Given the description of an element on the screen output the (x, y) to click on. 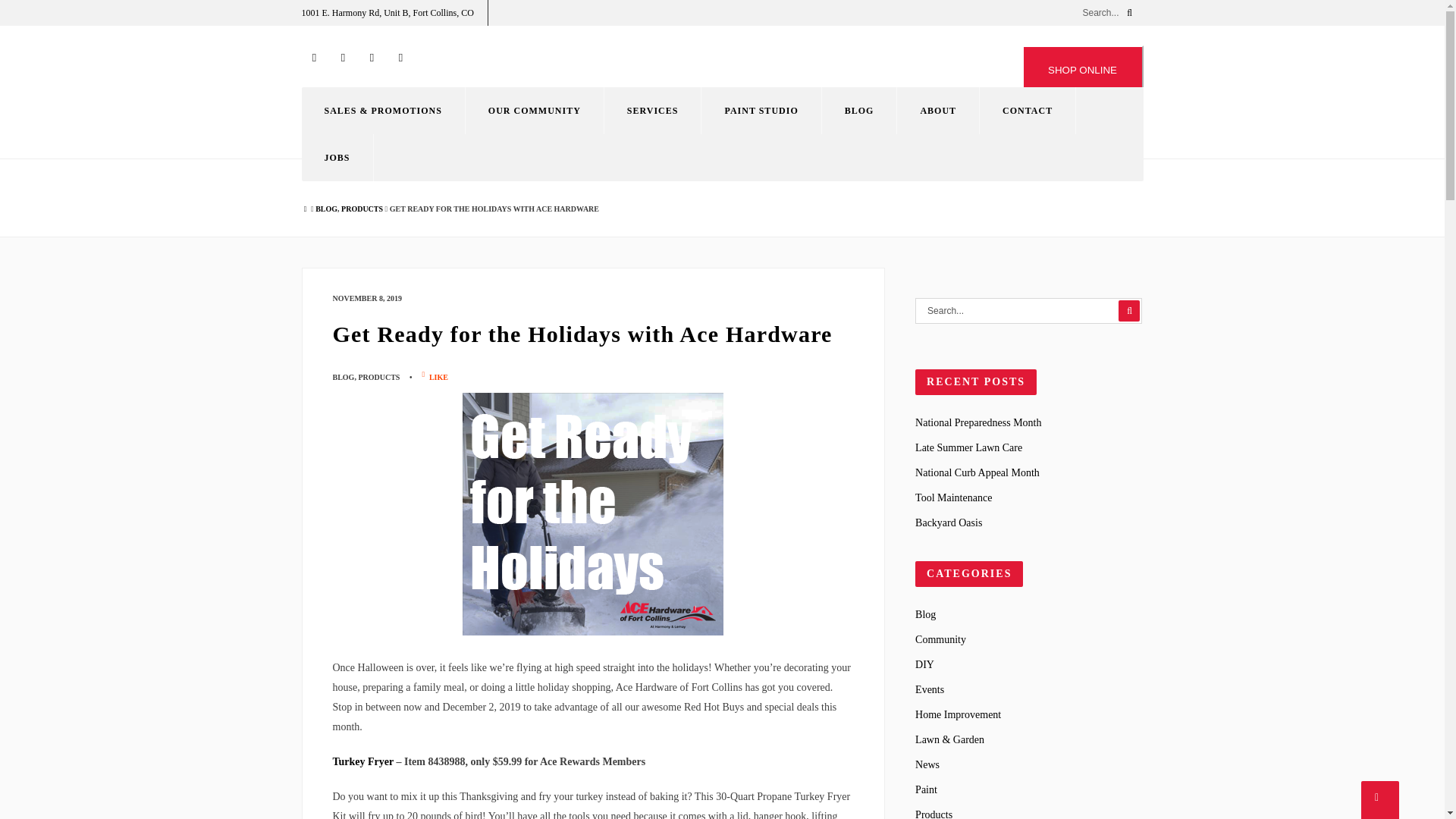
BLOG (326, 208)
Search... (1028, 310)
PAINT STUDIO (760, 110)
You Tube (400, 58)
SERVICES (652, 110)
Pinterest (372, 58)
PRODUCTS (361, 208)
Facebook (314, 58)
 LIKE (437, 377)
Instagram (343, 58)
